Given the description of an element on the screen output the (x, y) to click on. 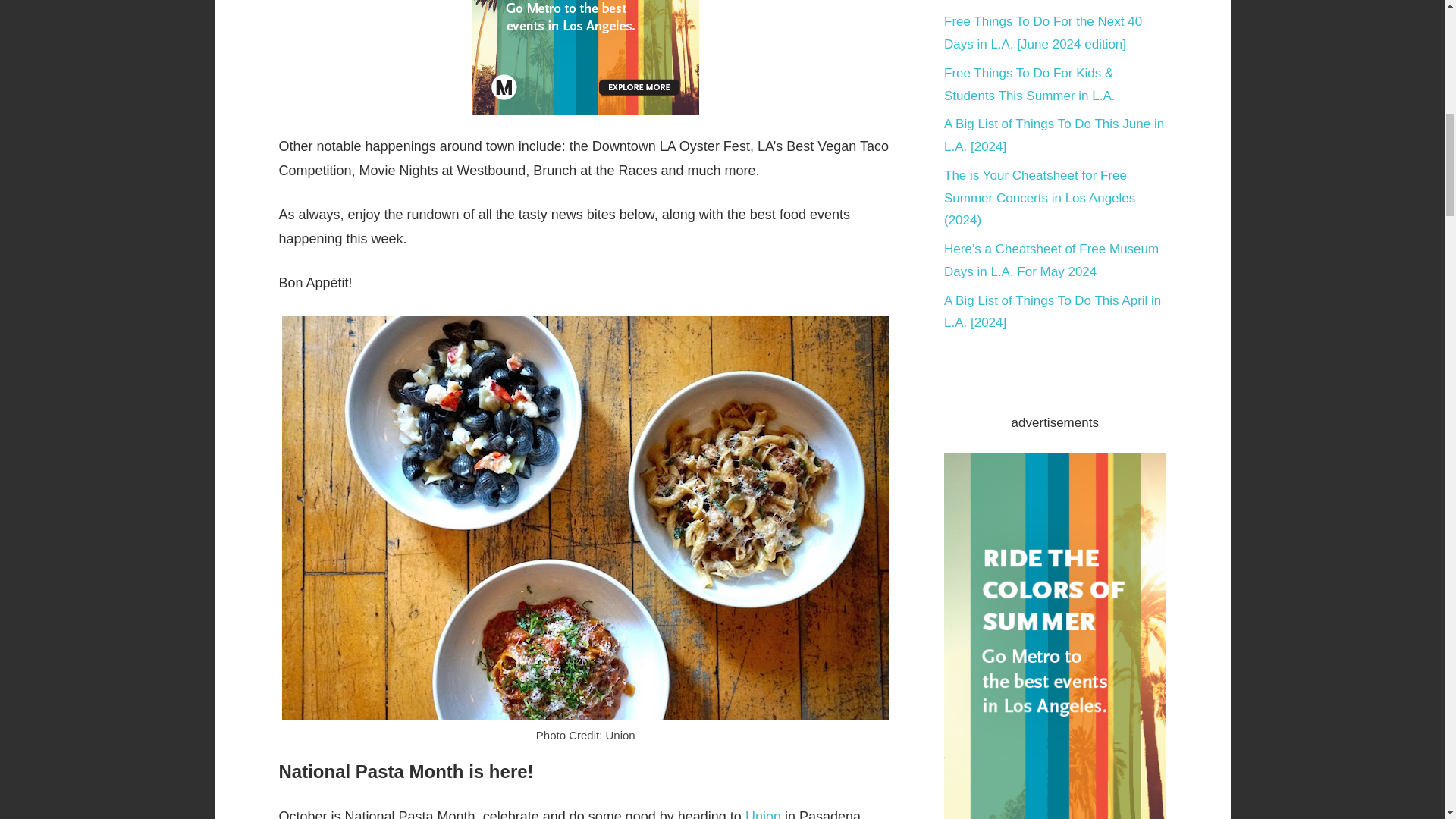
Union (762, 814)
